Given the description of an element on the screen output the (x, y) to click on. 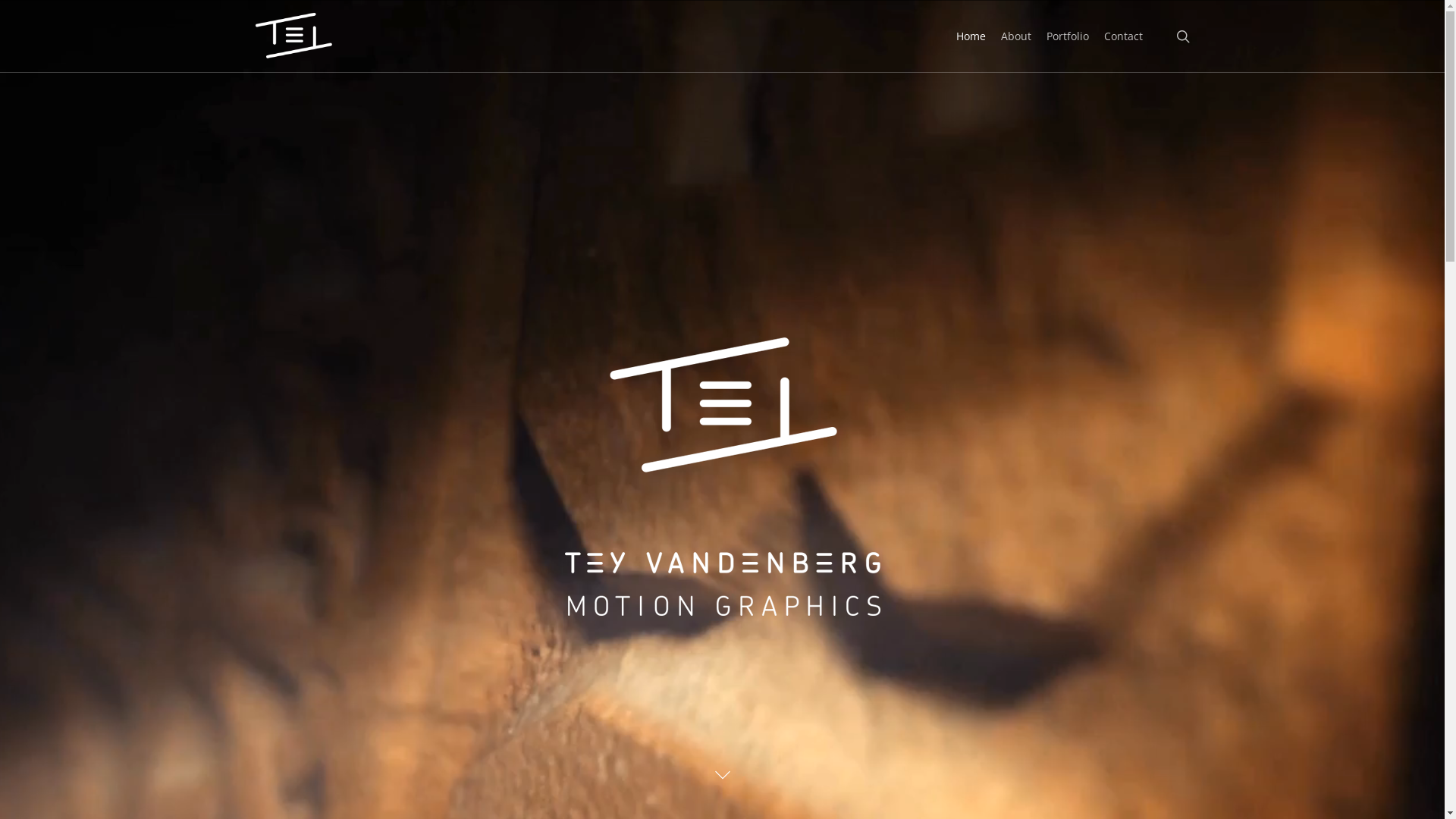
Home Element type: text (970, 35)
Portfolio Element type: text (1067, 35)
Contact Element type: text (1123, 35)
About Element type: text (1015, 35)
